Given the description of an element on the screen output the (x, y) to click on. 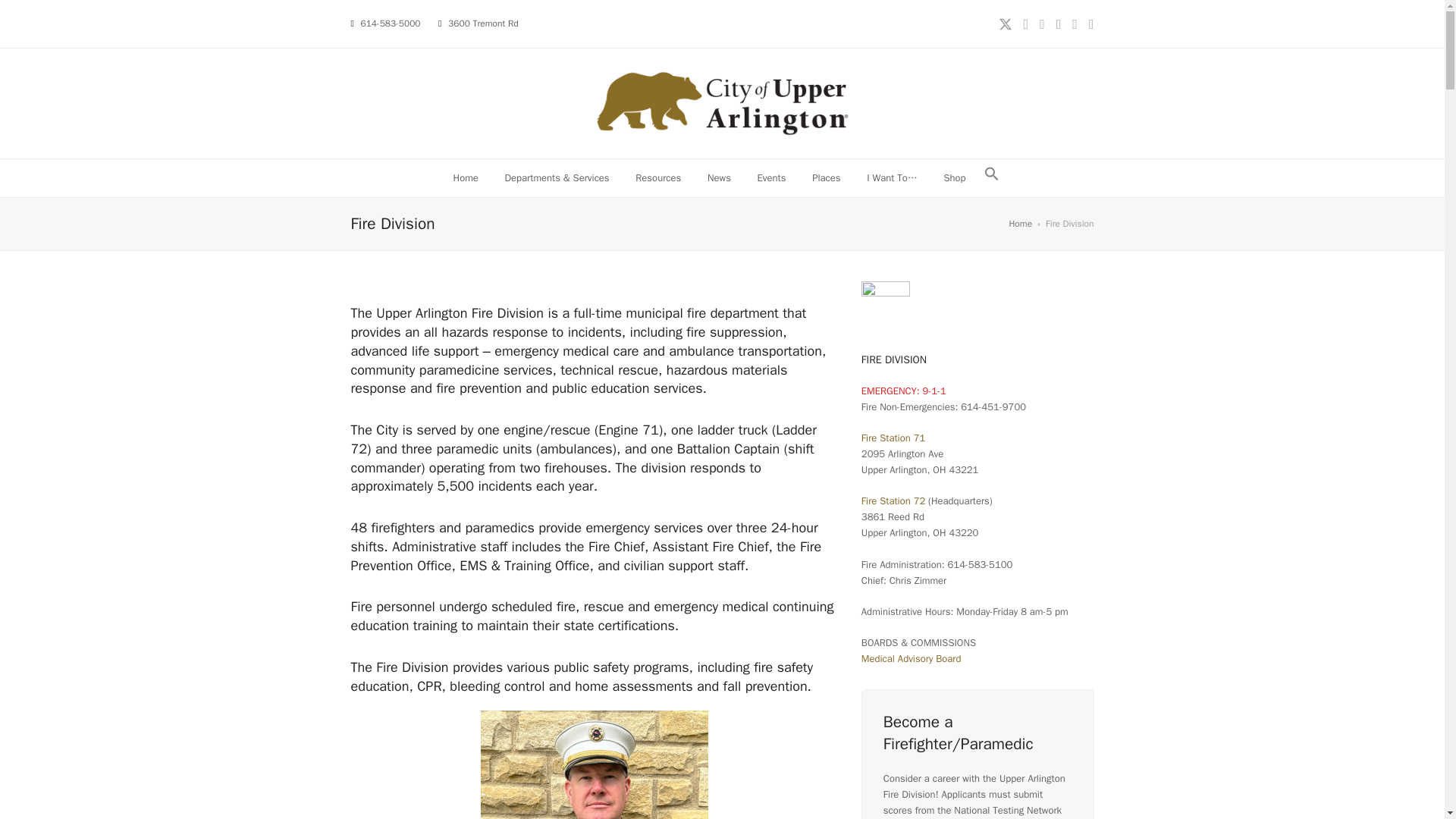
Fire Station 71 (892, 437)
Events (771, 177)
Home (465, 177)
Fire Station 72 (892, 500)
News (718, 177)
Home (1020, 223)
Medical Advisory Board (910, 658)
Places (825, 177)
ZimmerWeb (593, 764)
Shop (953, 177)
Resources (658, 177)
